Given the description of an element on the screen output the (x, y) to click on. 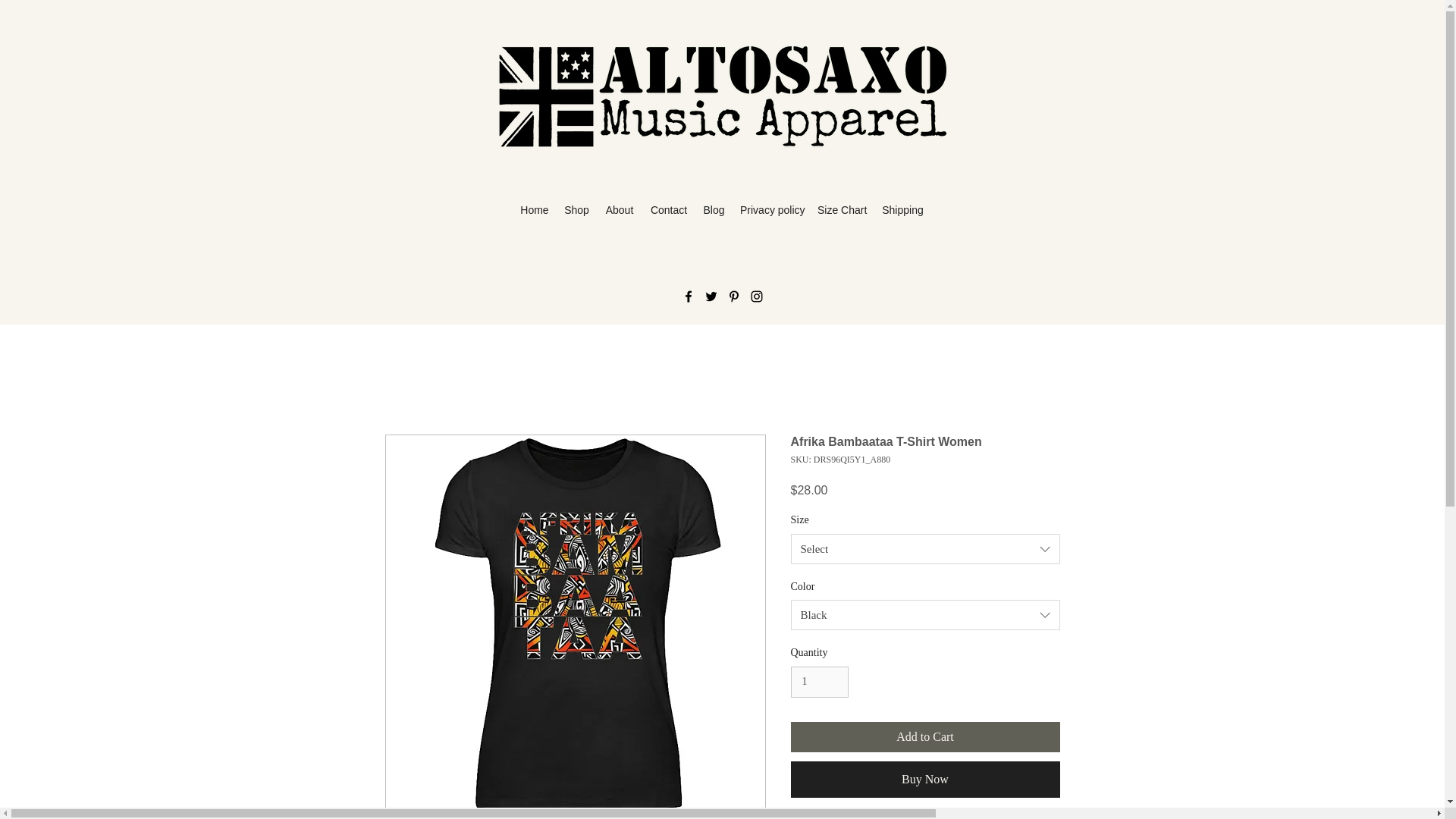
Black (924, 614)
1 (818, 681)
altosaxo LOGO PNG 1900.png (722, 96)
Privacy policy (770, 210)
Size Chart (841, 210)
About (619, 210)
Shipping (902, 210)
Buy Now (924, 779)
Home (534, 210)
Contact (668, 210)
Select (924, 548)
Add to Cart (924, 736)
